Given the description of an element on the screen output the (x, y) to click on. 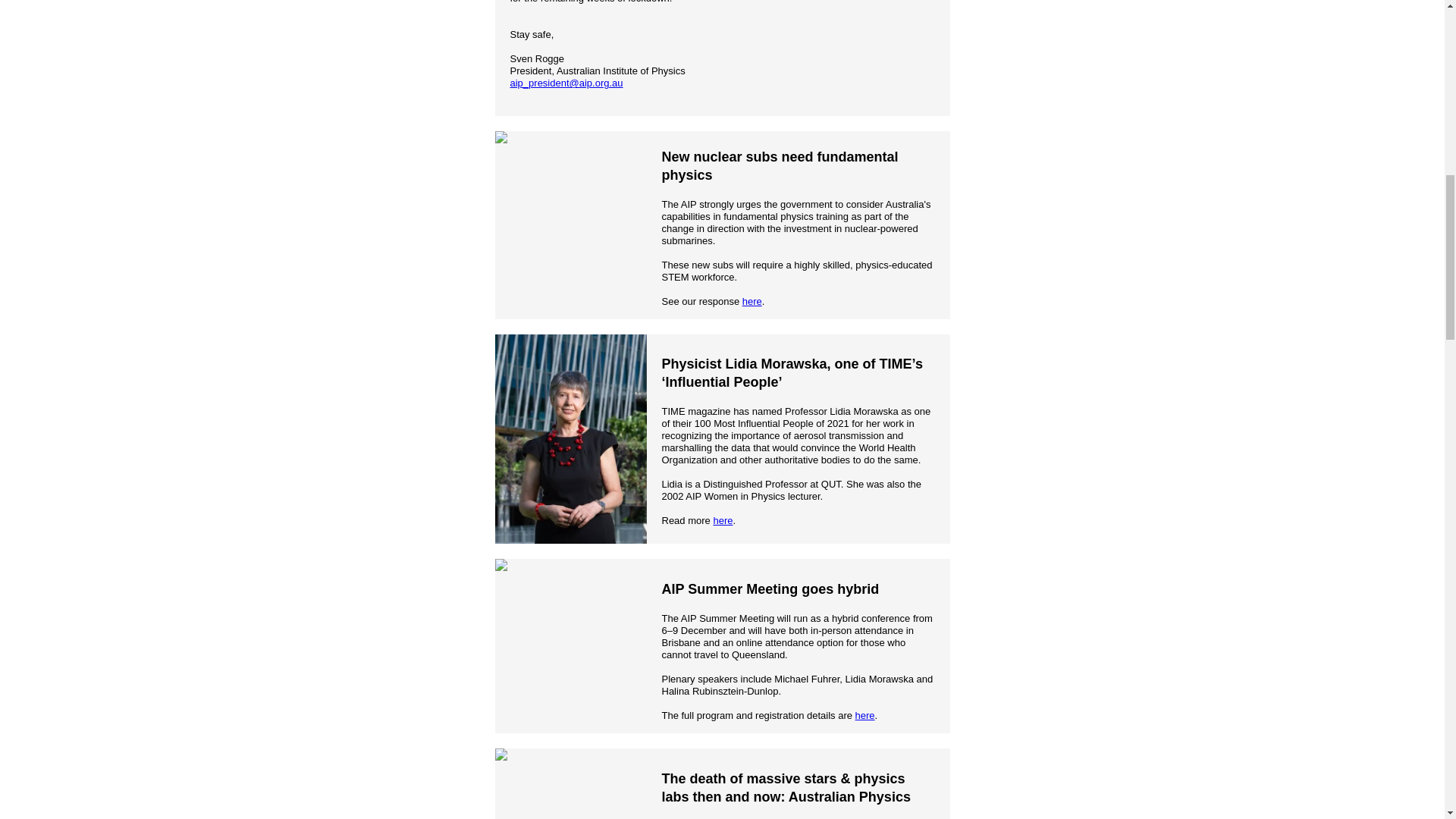
here (722, 520)
here (751, 301)
here (865, 714)
